Given the description of an element on the screen output the (x, y) to click on. 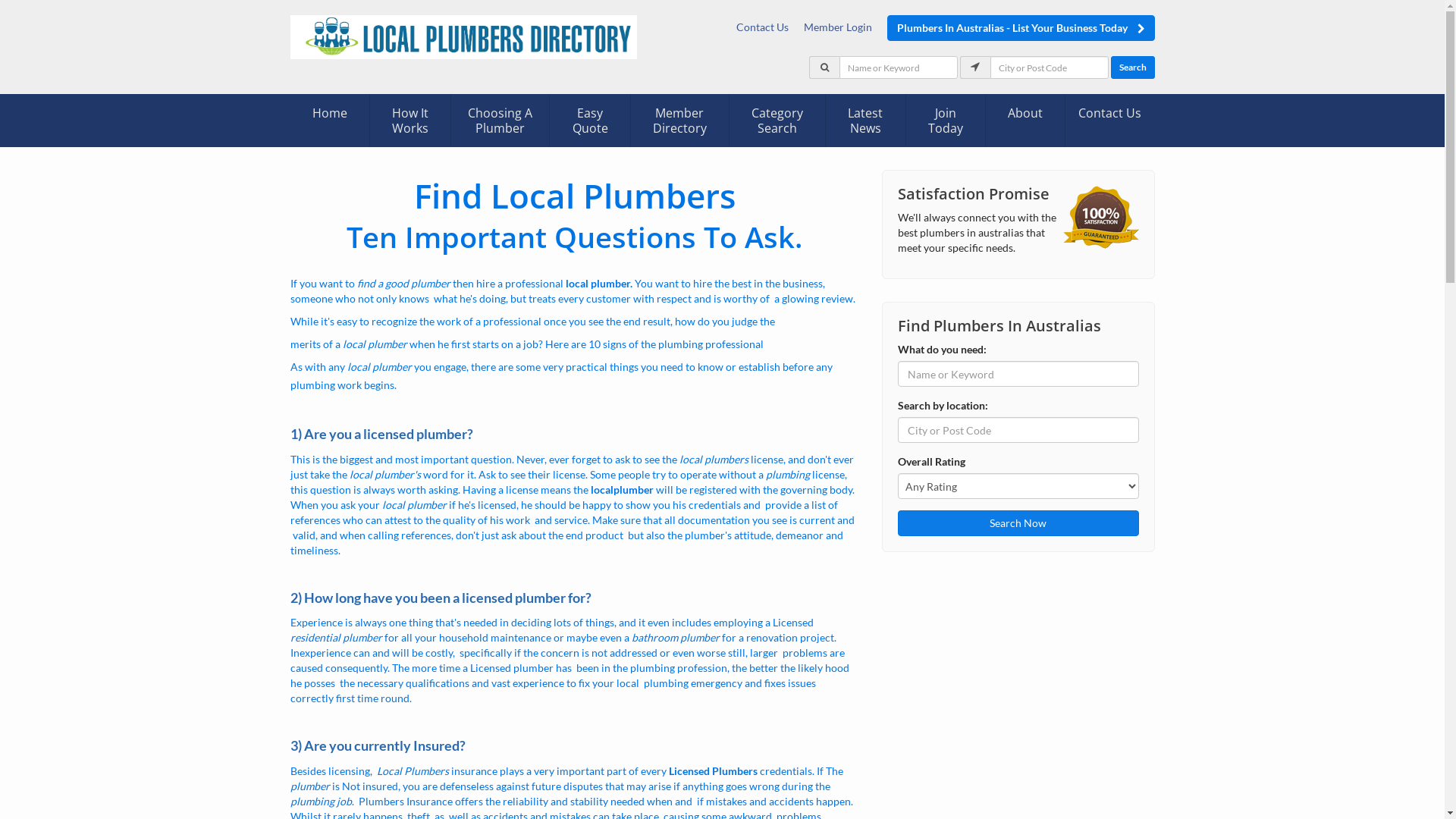
Category Search Element type: text (777, 120)
Easy Quote Element type: text (589, 120)
Search Element type: text (1132, 67)
Contact Us Element type: text (761, 26)
Plumbers In Australias - List Your Business Today Element type: text (1020, 27)
Member Login Element type: text (841, 26)
How It Works Element type: text (410, 120)
About Element type: text (1024, 112)
Contact Us Element type: text (1109, 112)
Choosing A Plumber Element type: text (500, 120)
Localplumbersdirectory.com.au Element type: hover (463, 35)
Latest News Element type: text (864, 120)
Join Today Element type: text (945, 120)
Member Directory Element type: text (679, 120)
Search Now Element type: text (1018, 523)
Home Element type: text (328, 112)
